Given the description of an element on the screen output the (x, y) to click on. 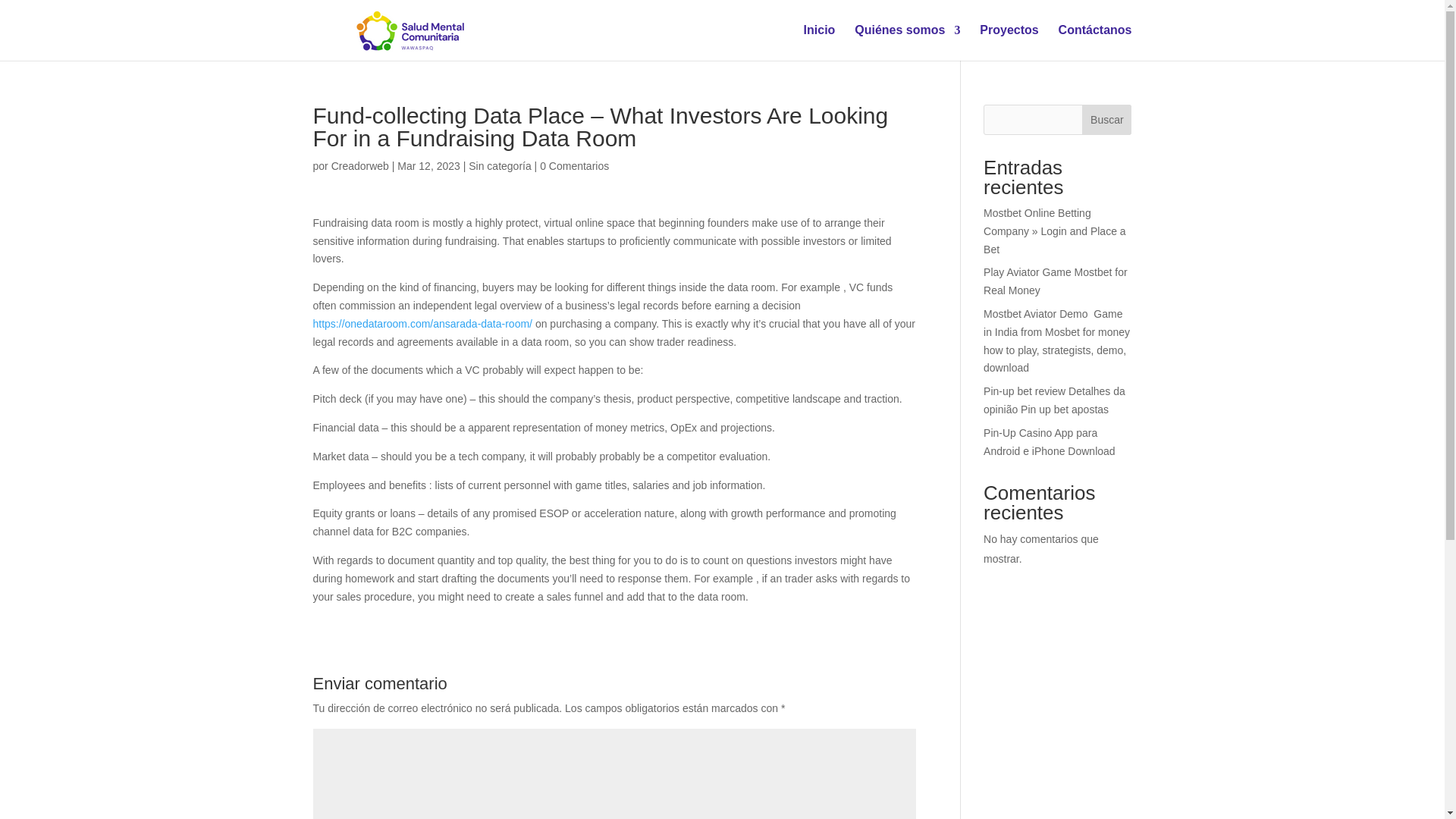
Proyectos (1008, 42)
Play Aviator Game Mostbet for Real Money (1055, 281)
Creadorweb (359, 165)
Mensajes de Creadorweb (359, 165)
Pin-Up Casino App para Android e iPhone Download (1049, 441)
Inicio (819, 42)
0 Comentarios (574, 165)
Buscar (1106, 119)
